Given the description of an element on the screen output the (x, y) to click on. 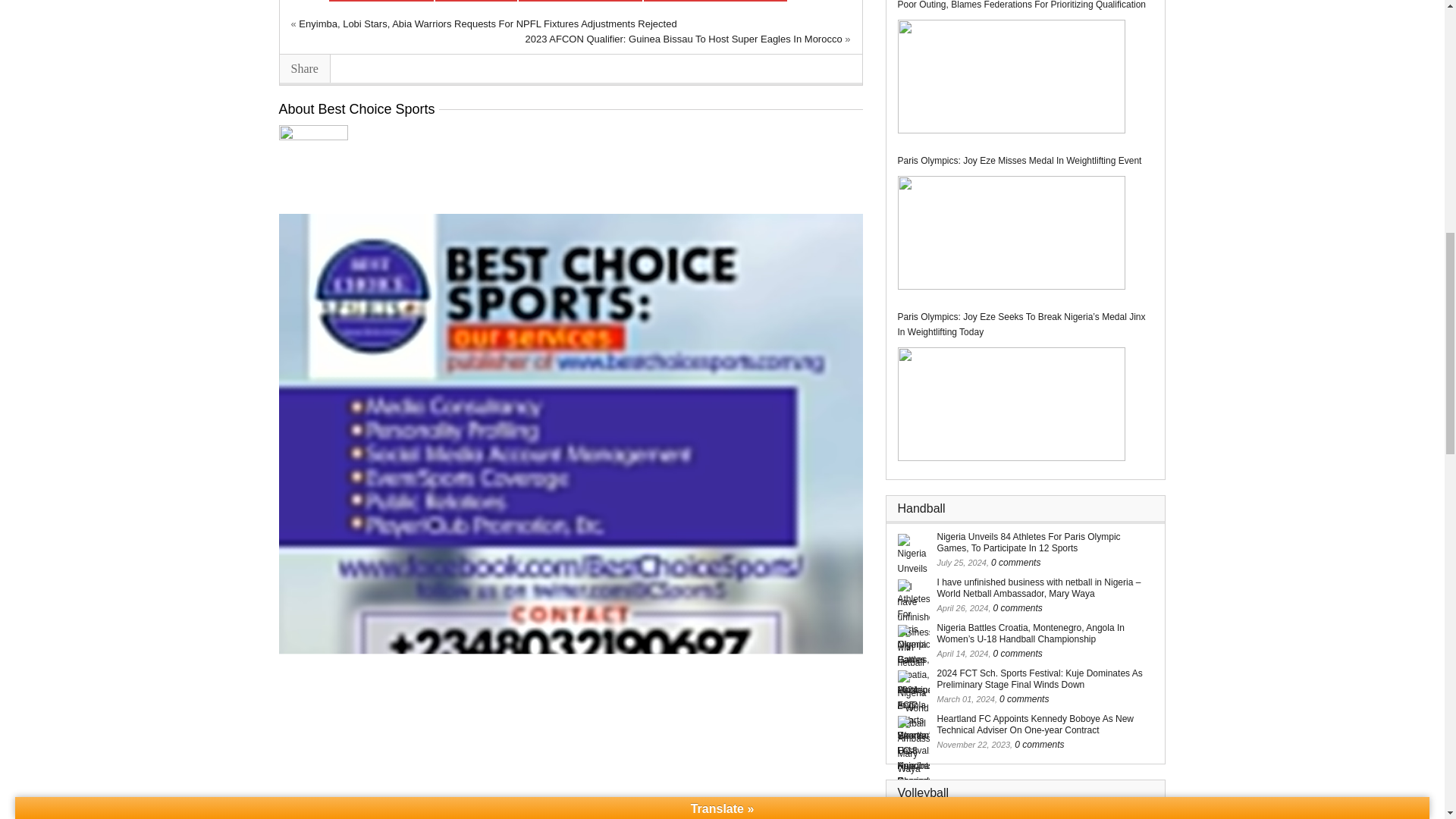
Paris Olympics: Joy Eze Misses Medal In Weightlifting Event (1011, 232)
Nasarawa United (475, 0)
Nigeria Premier Football League (715, 0)
New Jos Township Stadium (580, 0)
Ahmadu Bello Stadium (381, 0)
